Given the description of an element on the screen output the (x, y) to click on. 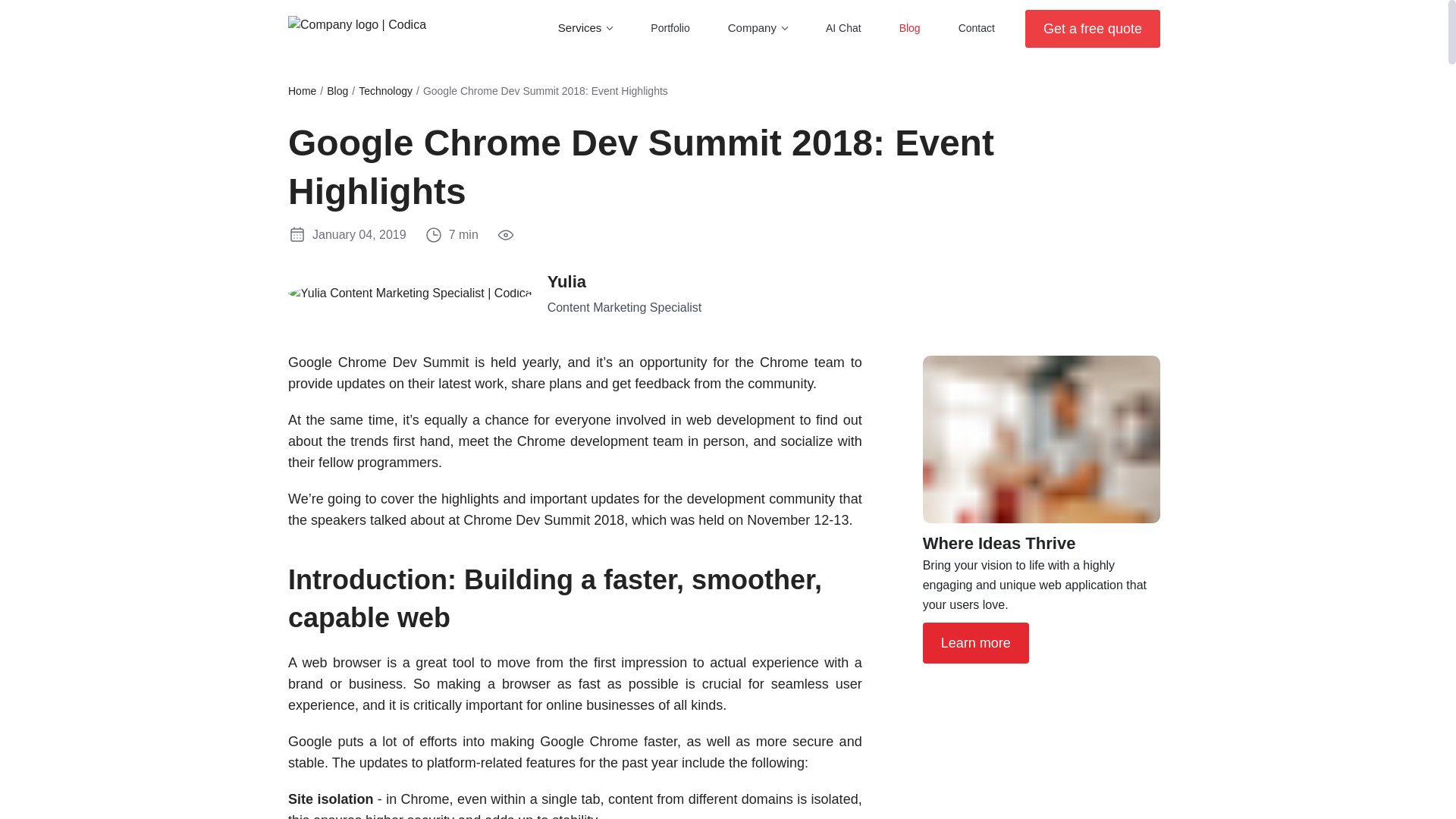
Company logo (357, 24)
AI Chat (843, 28)
Home (301, 91)
Portfolio (669, 28)
Get a free quote (1092, 27)
Contact (976, 28)
Yulia Content Marketing Specialist (410, 293)
Blog (909, 28)
Services (579, 27)
Blog (336, 91)
